Given the description of an element on the screen output the (x, y) to click on. 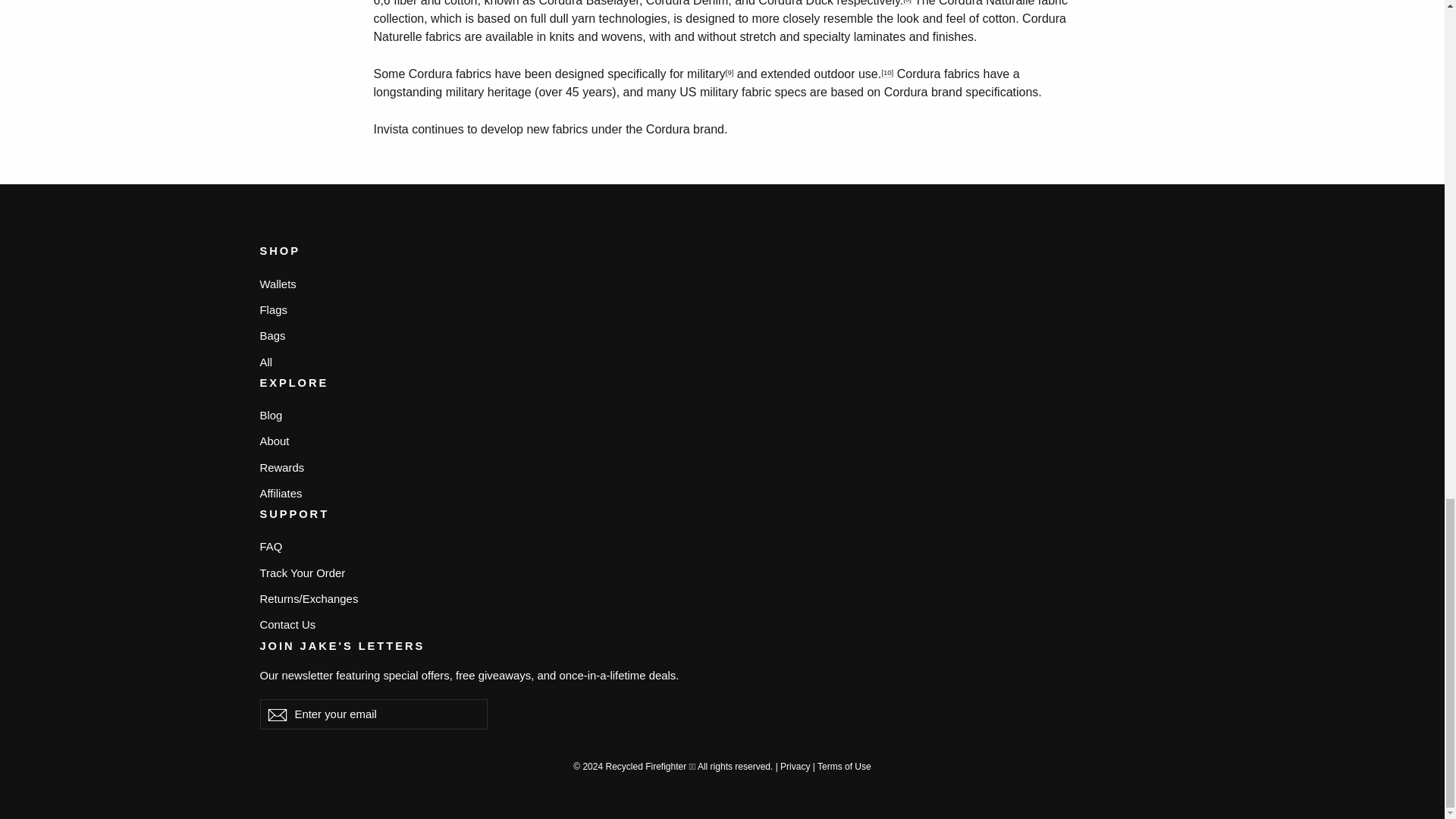
icon-email (276, 714)
